Given the description of an element on the screen output the (x, y) to click on. 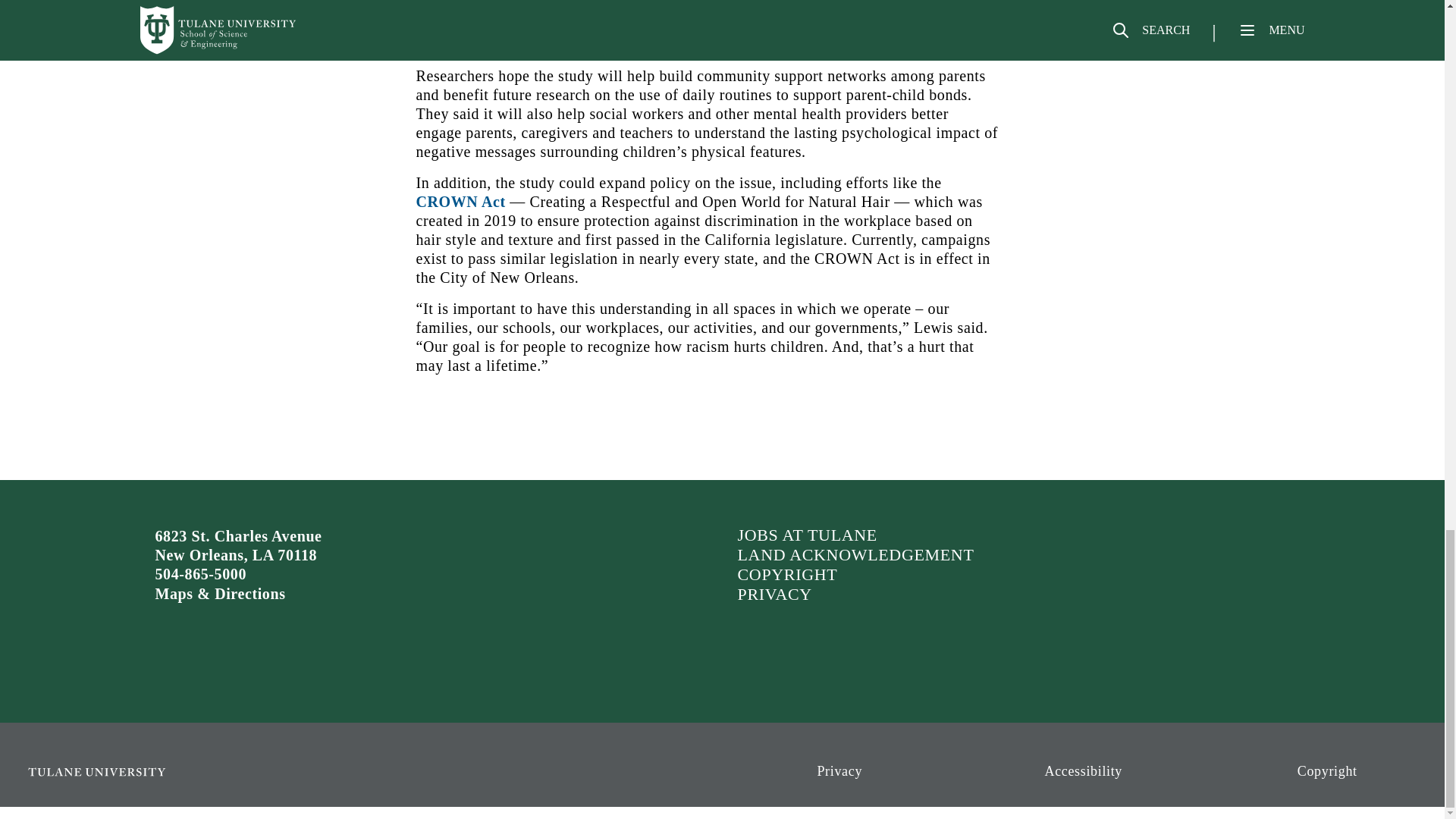
Home (189, 778)
